Given the description of an element on the screen output the (x, y) to click on. 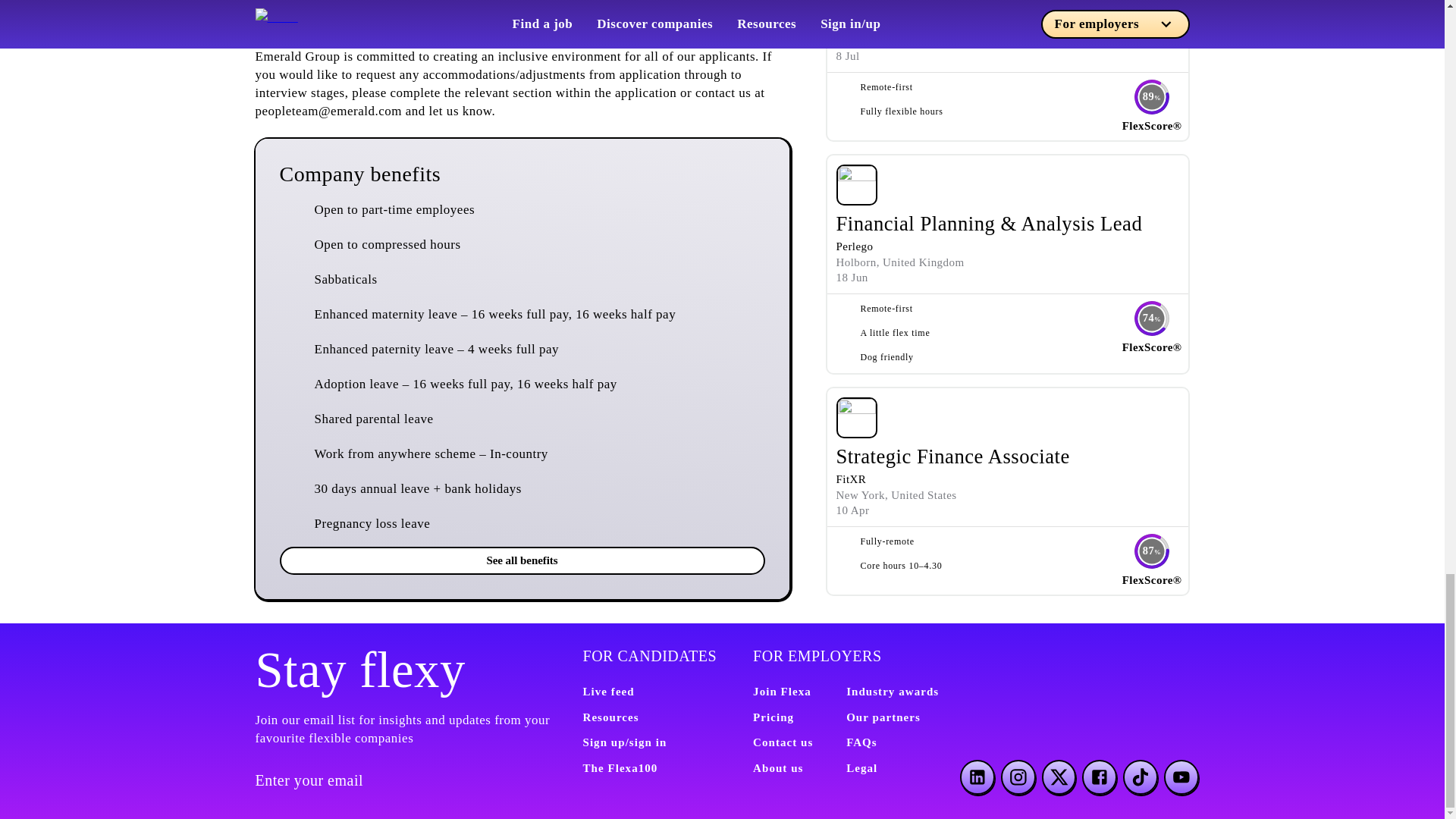
FitXR (850, 479)
Strategic Finance Associate (951, 456)
Legal (861, 767)
Contact us (782, 742)
Resources (610, 717)
About us (777, 767)
Industry awards (892, 691)
Perlego (853, 246)
Pricing (772, 717)
Our partners (882, 717)
See all benefits (521, 560)
The Flexa100 (620, 767)
Live feed (607, 691)
Paddle (852, 24)
Join Flexa (781, 691)
